Given the description of an element on the screen output the (x, y) to click on. 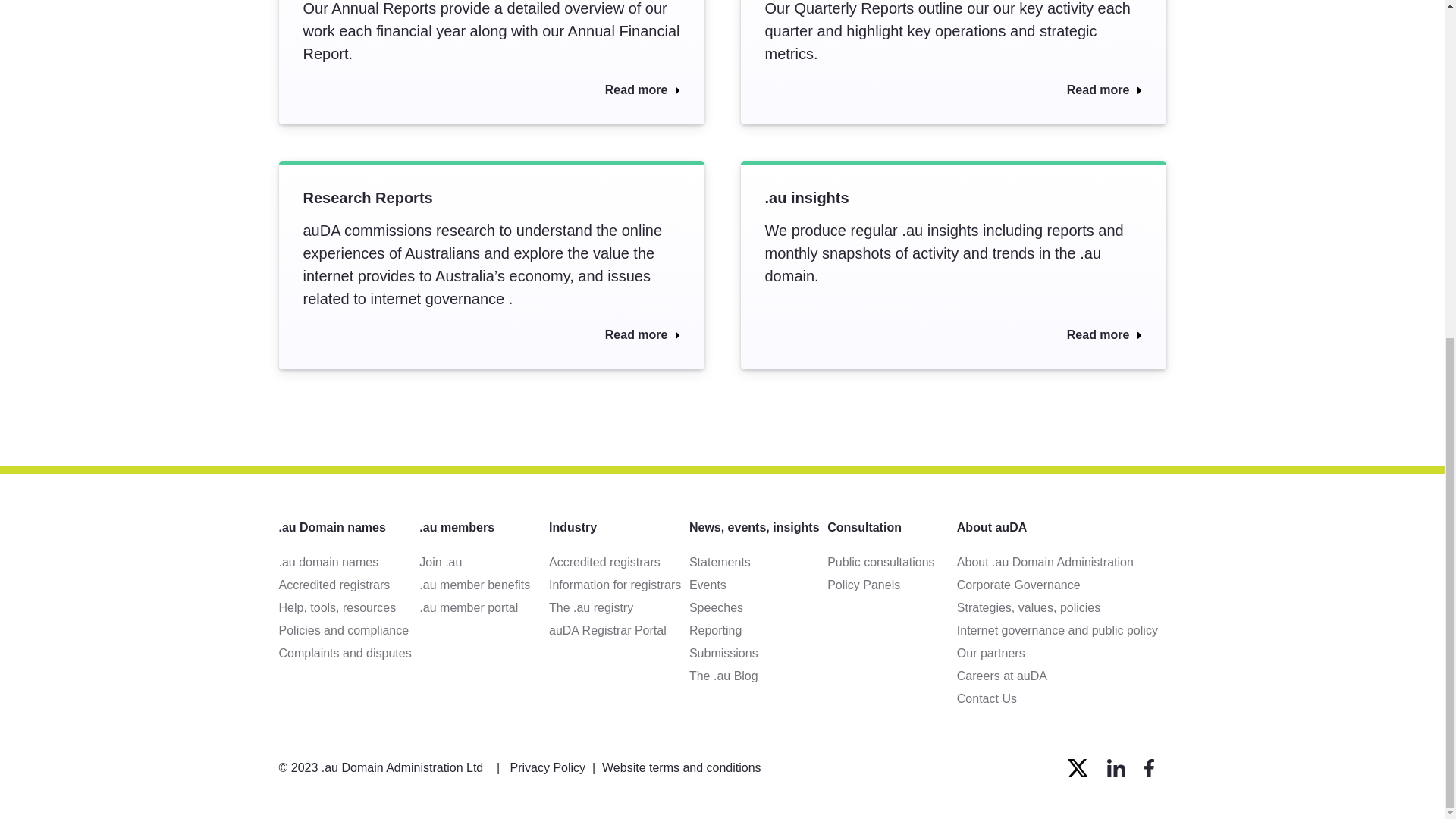
Become a .au member (483, 562)
Find a .au registrar (349, 585)
Learn about the different namespaces in .au (349, 562)
Membership Benefits (483, 585)
